Given the description of an element on the screen output the (x, y) to click on. 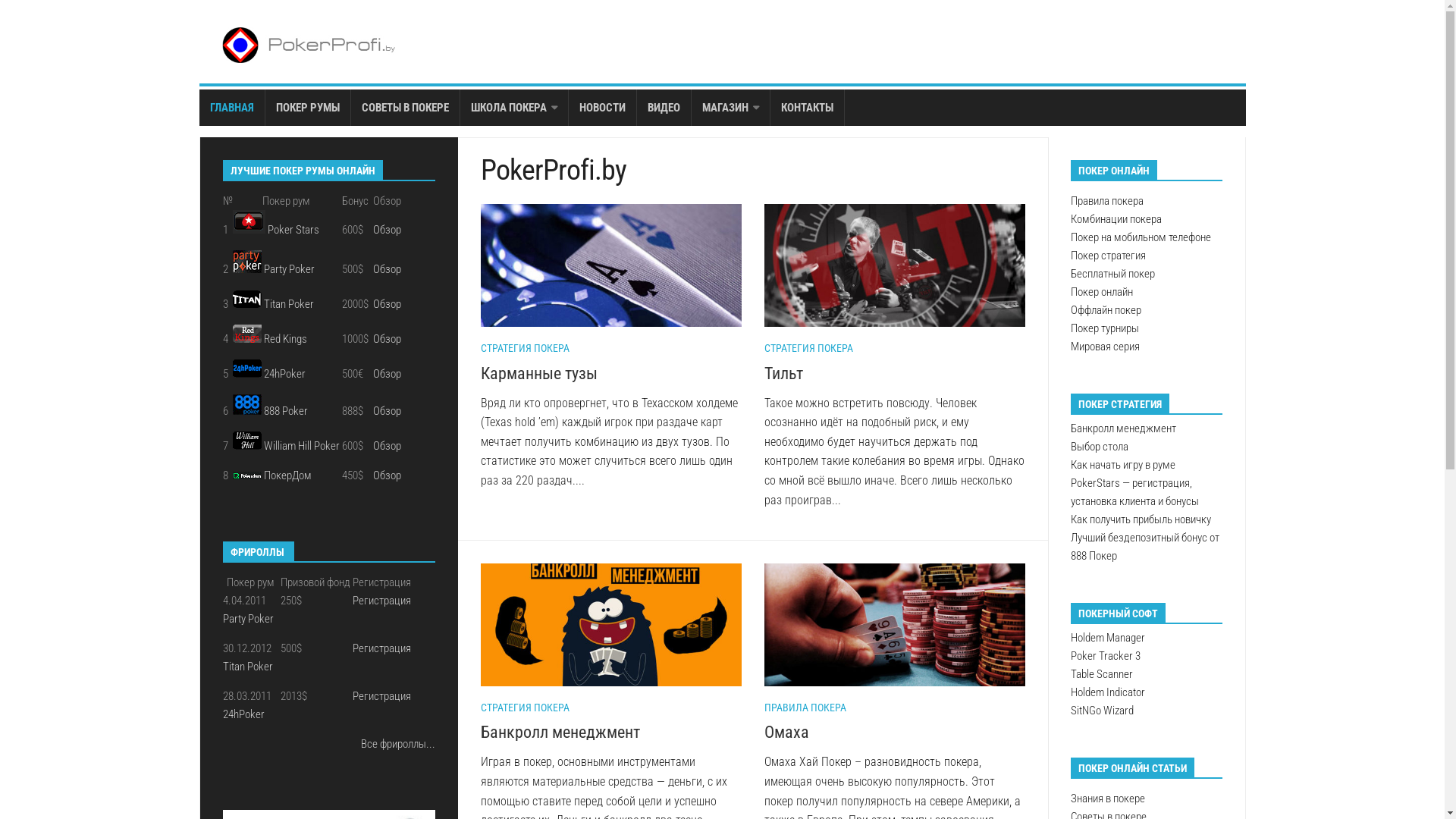
Party Poker   Element type: text (250, 618)
Holdem Manager Element type: text (1107, 637)
Poker Tracker 3 Element type: text (1105, 655)
24hPoker Element type: text (243, 714)
Titan Poker Element type: text (288, 303)
Poker Stars Element type: text (292, 229)
Holdem Indicator Element type: text (1107, 692)
24hPoker Element type: text (284, 373)
Titan Poker  Element type: text (248, 666)
Red Kings Element type: text (285, 338)
SitNGo Wizard Element type: text (1101, 710)
Party Poker Element type: text (288, 269)
888 Poker Element type: text (285, 410)
Table Scanner Element type: text (1101, 673)
William Hill Poker Element type: text (301, 445)
